Given the description of an element on the screen output the (x, y) to click on. 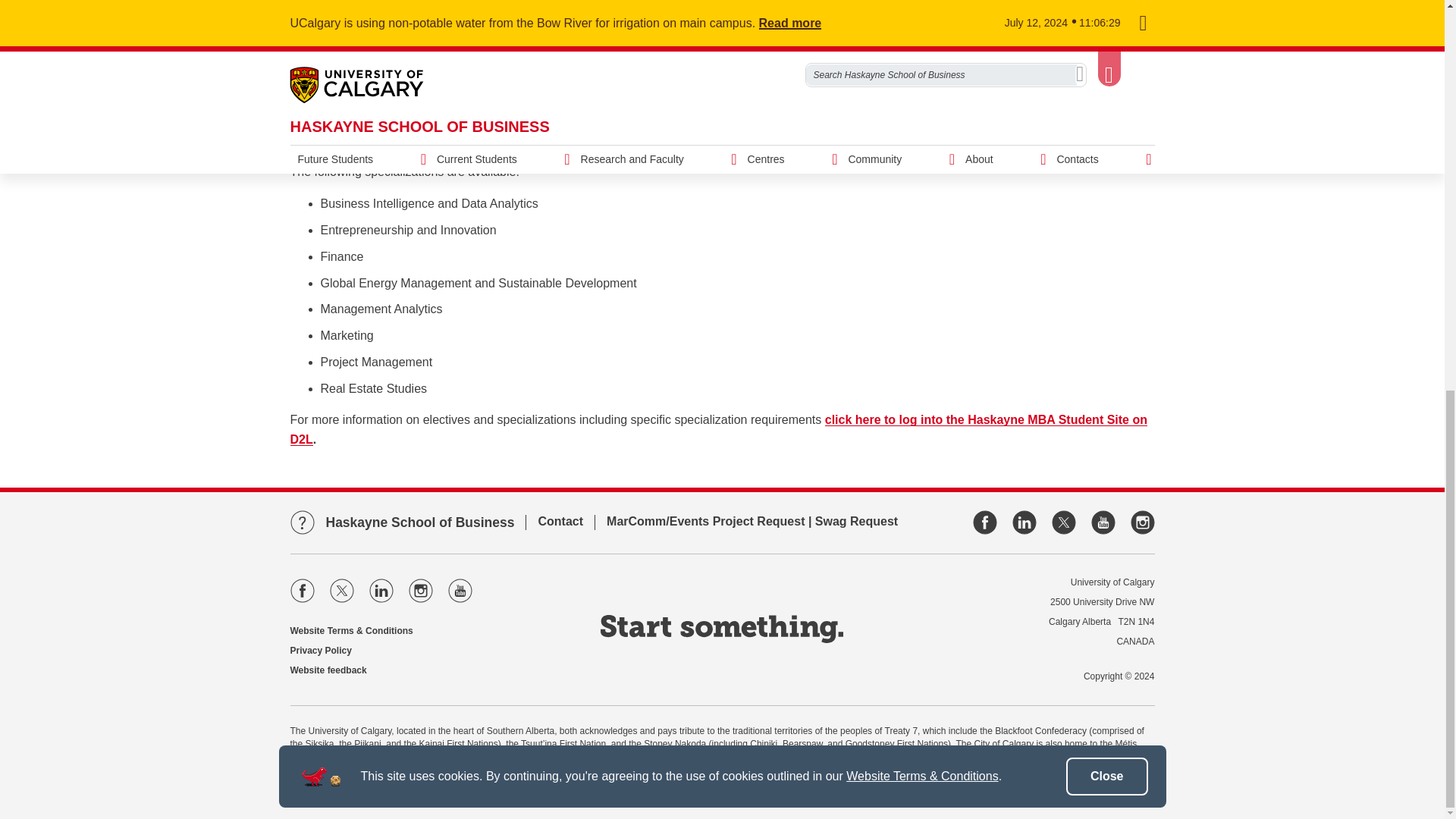
Close (1106, 30)
